Given the description of an element on the screen output the (x, y) to click on. 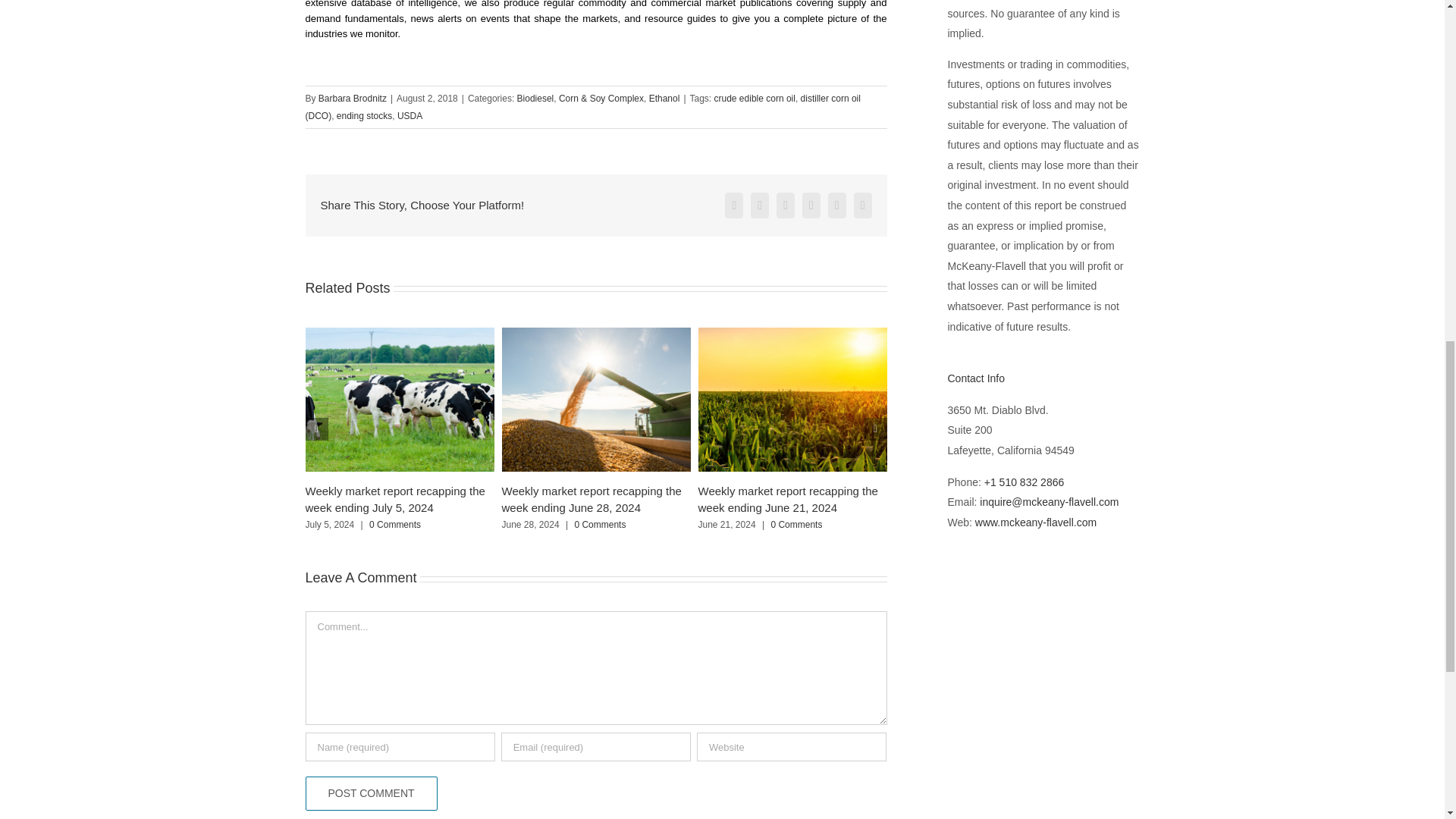
Ethanol (664, 98)
Weekly market report recapping the week ending June 21, 2024 (787, 498)
crude edible corn oil (754, 98)
Weekly market report recapping the week ending July 5, 2024 (394, 498)
ending stocks (363, 115)
Barbara Brodnitz (352, 98)
Posts by Barbara Brodnitz (352, 98)
USDA (409, 115)
Post Comment (370, 793)
Biodiesel (535, 98)
Weekly market report recapping the week ending June 28, 2024 (591, 498)
